Given the description of an element on the screen output the (x, y) to click on. 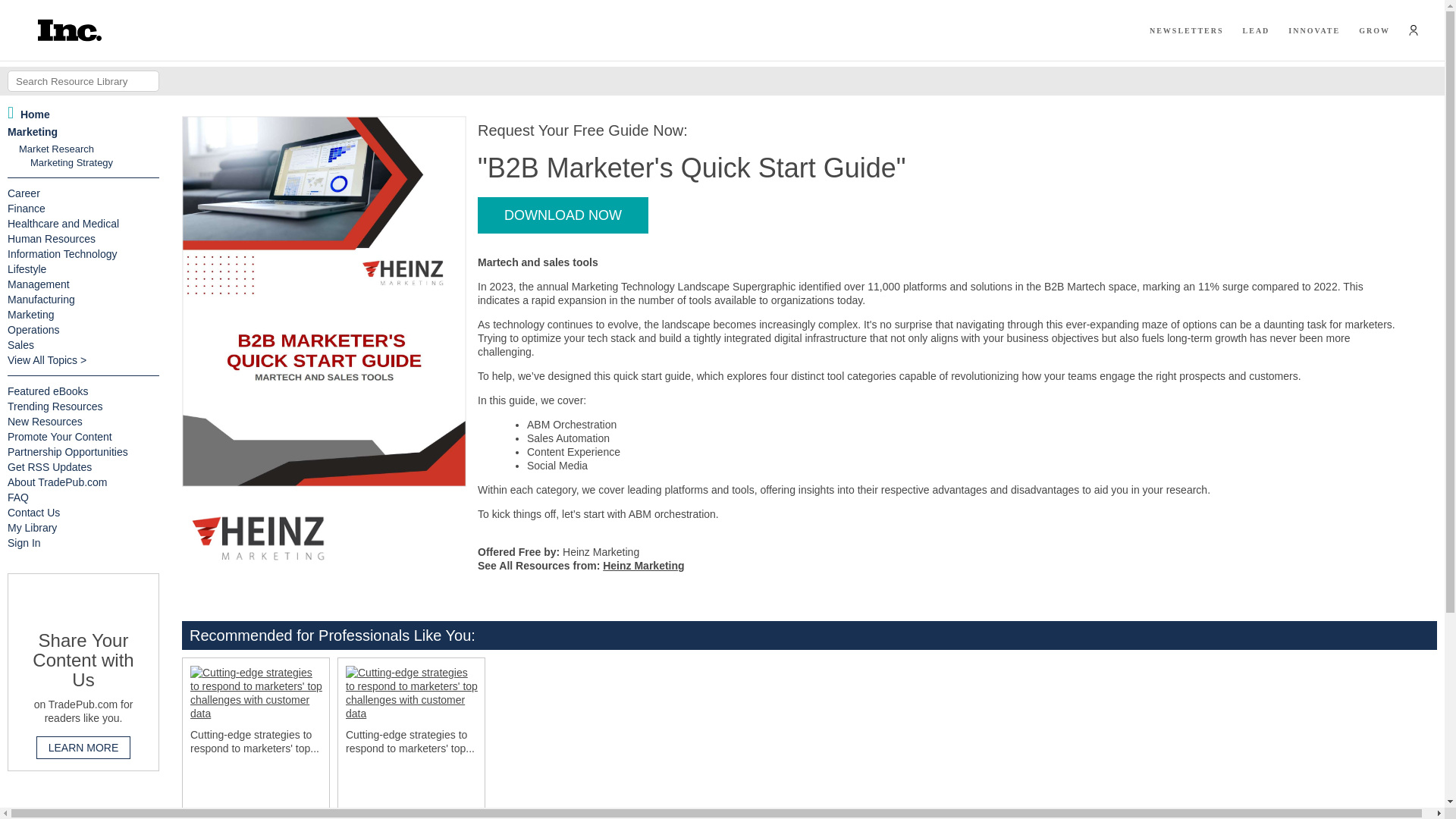
Continue to Lead on Inc.com (1256, 30)
Continue to Grow on Inc.com (1374, 30)
Continue to Newsletters on Inc.com (1187, 30)
Continue to Innovate on Inc.com (1313, 30)
